Given the description of an element on the screen output the (x, y) to click on. 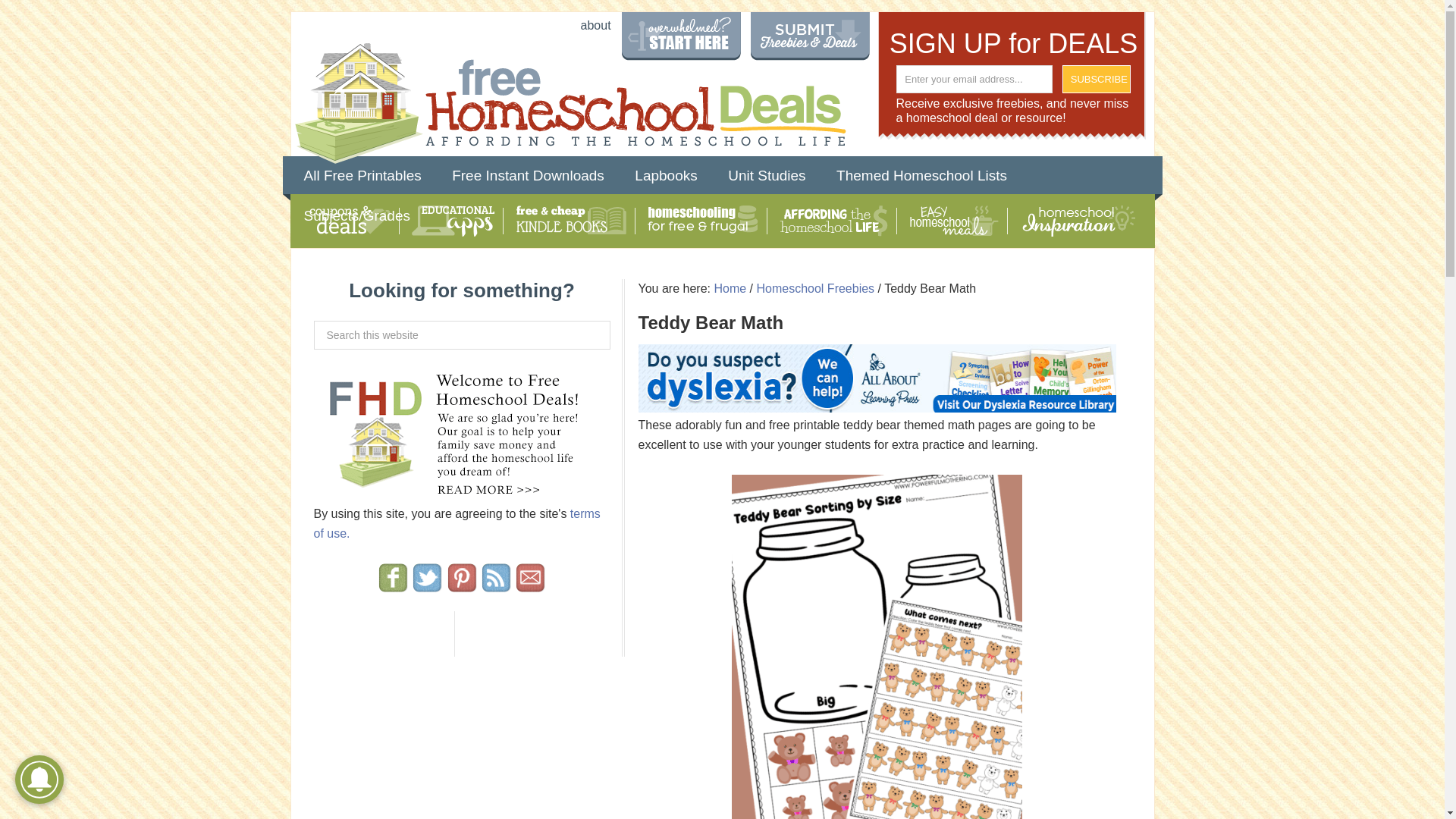
Unit Studies (766, 176)
All Free Printables (361, 176)
Get in Touch! (530, 585)
overwhelmed? start here (681, 41)
Subscribe to Free Homeschool Deals (496, 585)
Lapbooks (665, 176)
Follow me on Facebook (393, 585)
Follow me on Twitter (427, 585)
about (595, 25)
Themed Homeschool Lists (921, 176)
Themed Homeschool Lists (921, 176)
Follow me on Pinterest (461, 585)
Subscribe (1096, 79)
Free Instant Downloads (527, 176)
